Given the description of an element on the screen output the (x, y) to click on. 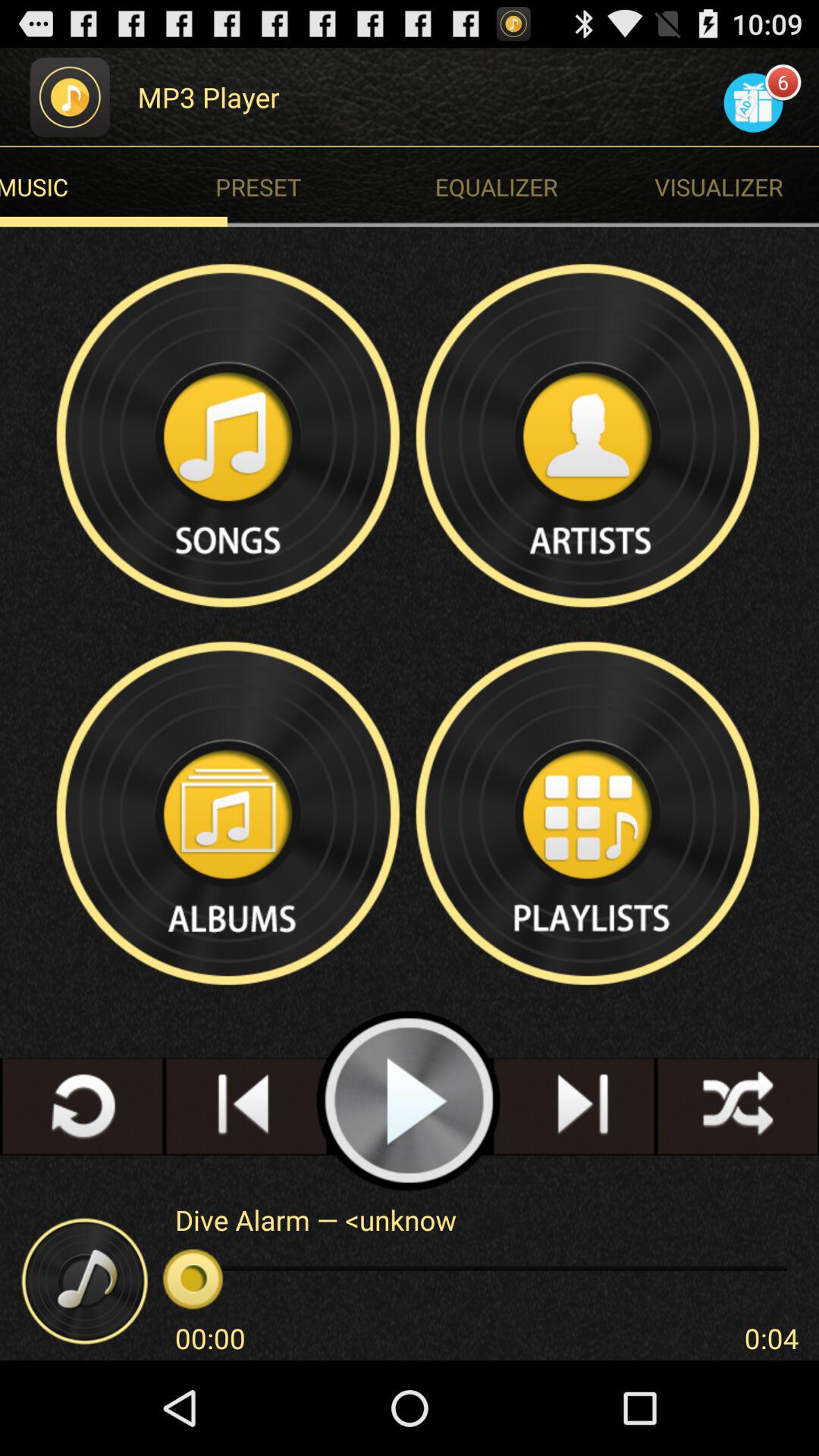
view albums (229, 813)
